Given the description of an element on the screen output the (x, y) to click on. 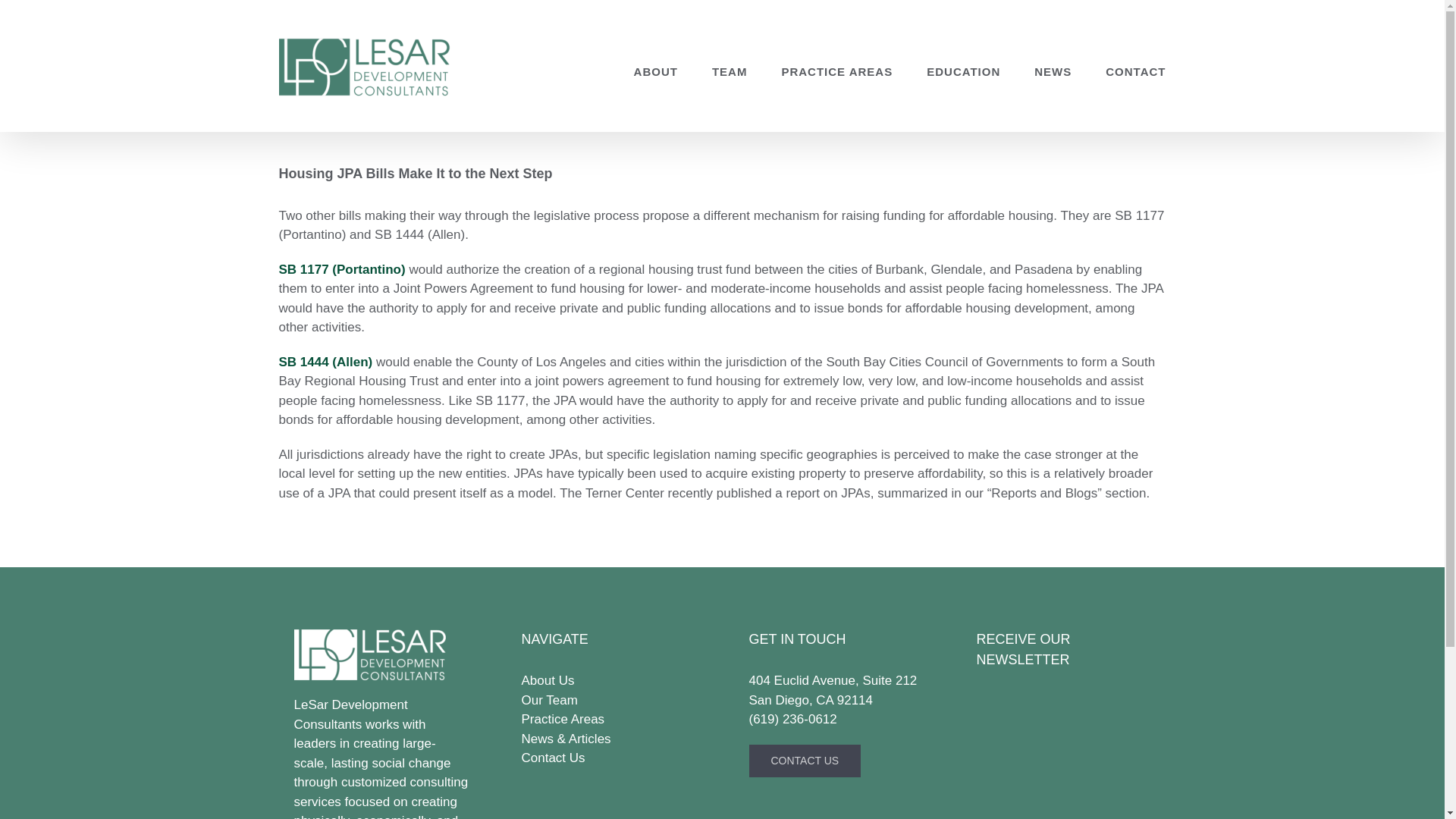
Contact Us (608, 758)
About Us (608, 680)
Practice Areas (608, 719)
Our Team (608, 700)
CONTACT US (805, 760)
PRACTICE AREAS (836, 71)
